Given the description of an element on the screen output the (x, y) to click on. 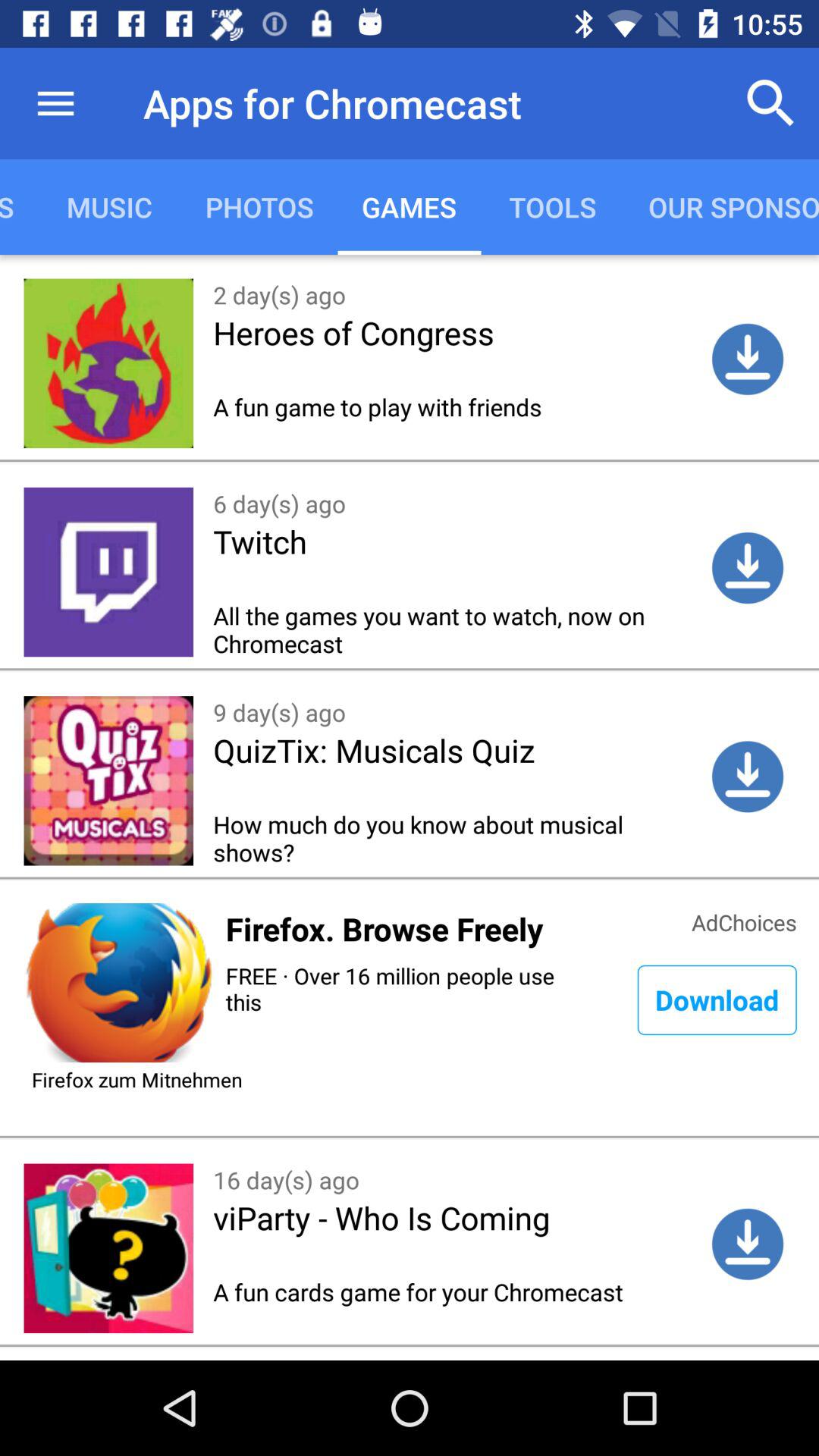
turn on the item next to apps for chromecast icon (55, 103)
